Given the description of an element on the screen output the (x, y) to click on. 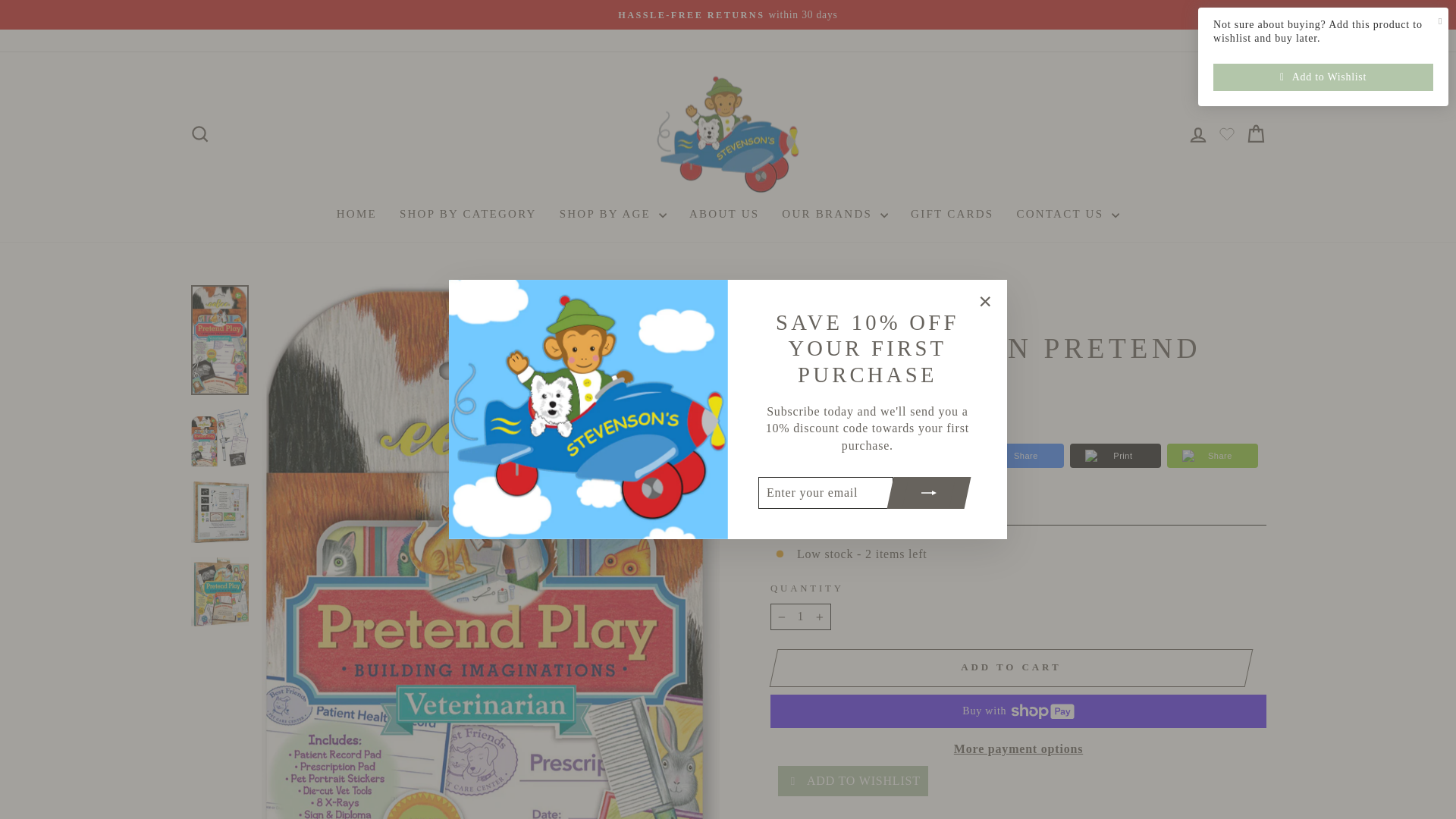
icon-X (984, 301)
Eeboo (793, 318)
instagram (1236, 39)
ICON-SEARCH (200, 133)
Back to the frontpage (1236, 40)
ACCOUNT (783, 297)
1 (199, 133)
Facebook (1198, 134)
